Given the description of an element on the screen output the (x, y) to click on. 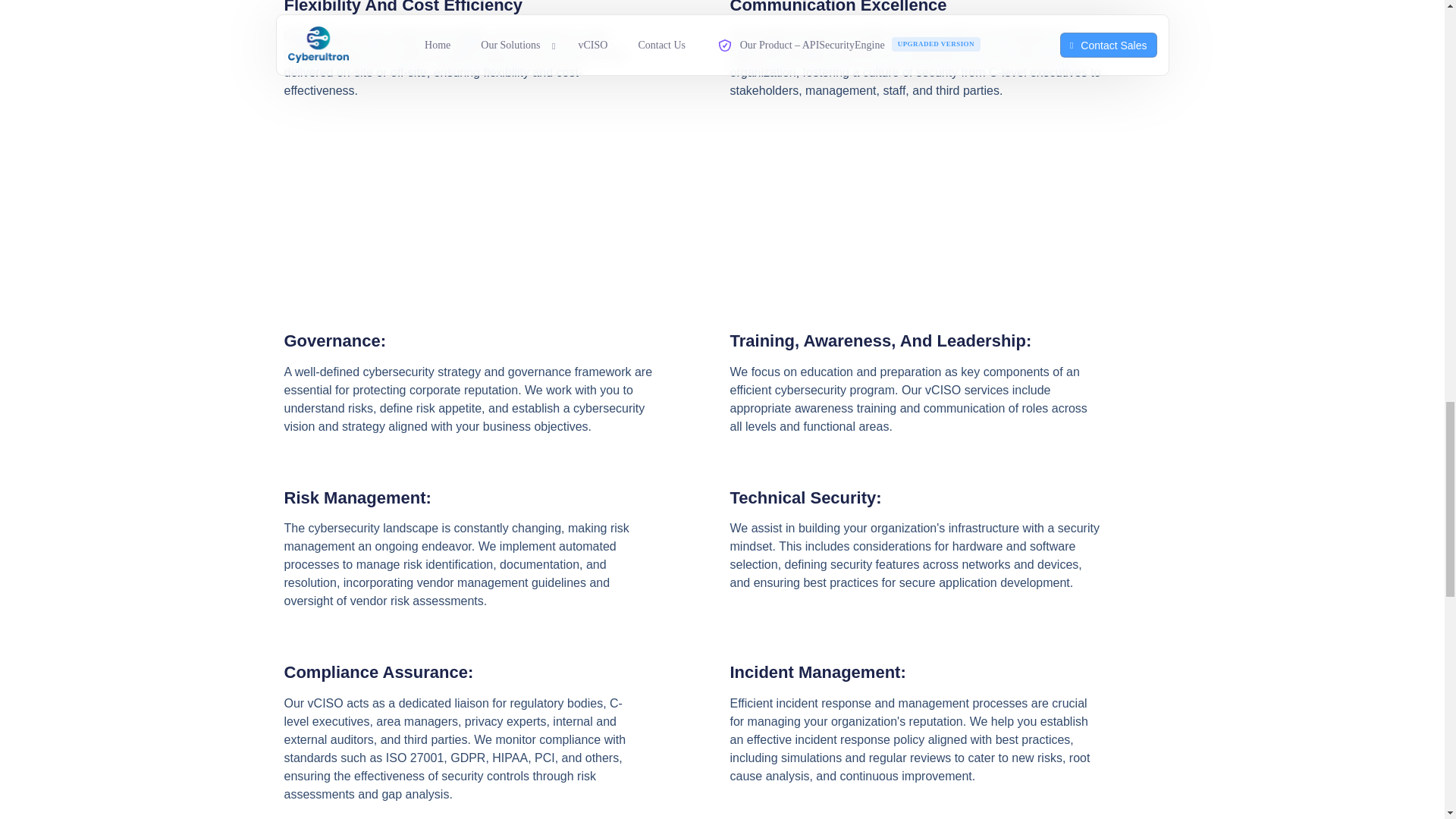
Compliance Assurance: (378, 671)
Communication Excellence (837, 7)
Risk Management: (356, 497)
Incident Management: (817, 671)
Governance: (334, 340)
Flexibility And Cost Efficiency (402, 7)
Technical Security: (804, 497)
Training, Awareness, And Leadership: (879, 340)
